Given the description of an element on the screen output the (x, y) to click on. 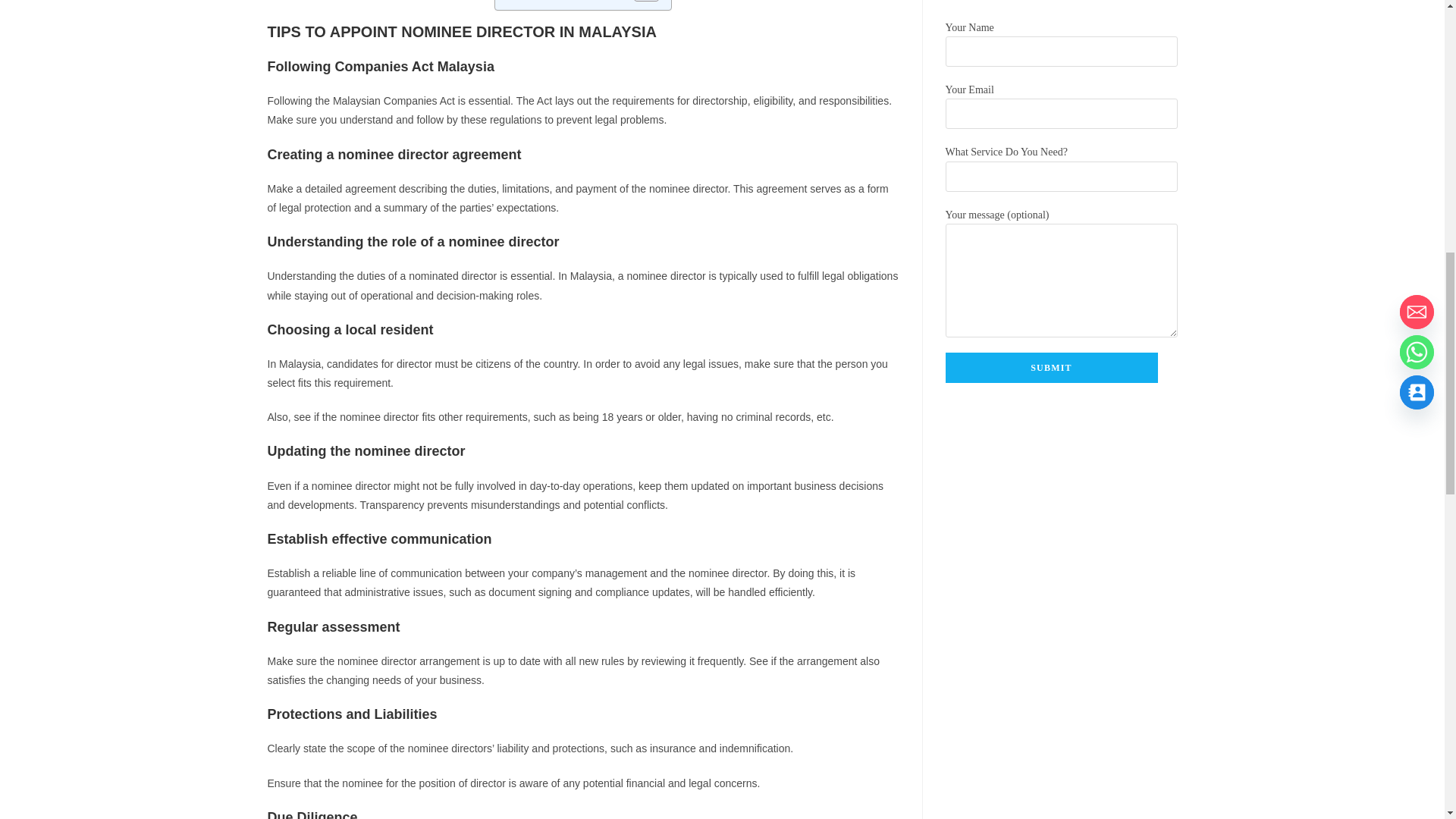
Submit (1050, 367)
